Given the description of an element on the screen output the (x, y) to click on. 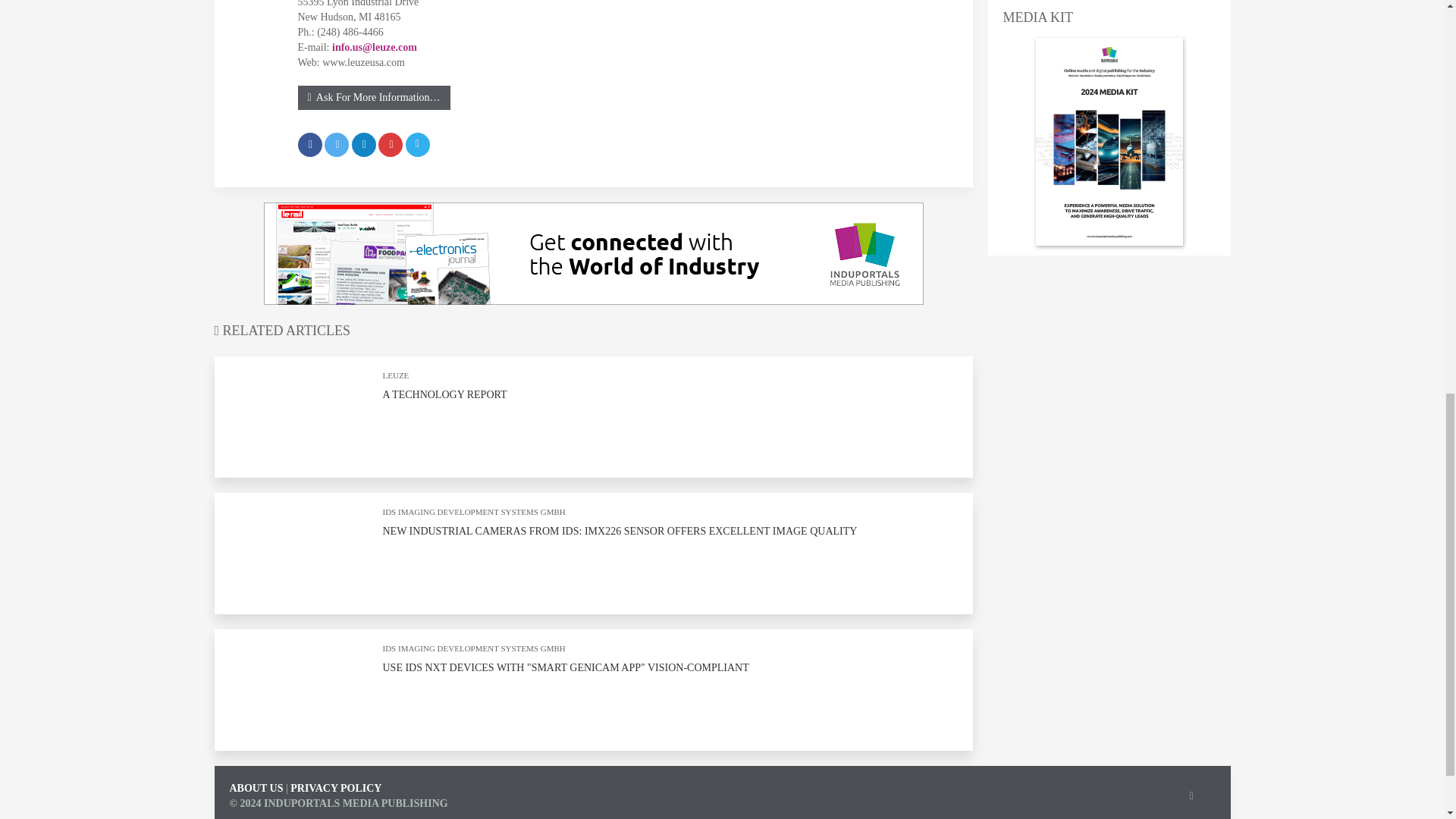
A TECHNOLOGY REPORT (443, 394)
Share on Twitter (336, 144)
Share on Pinterest (390, 144)
Share on LinkedIn (363, 144)
Share on Facebook (309, 144)
